Given the description of an element on the screen output the (x, y) to click on. 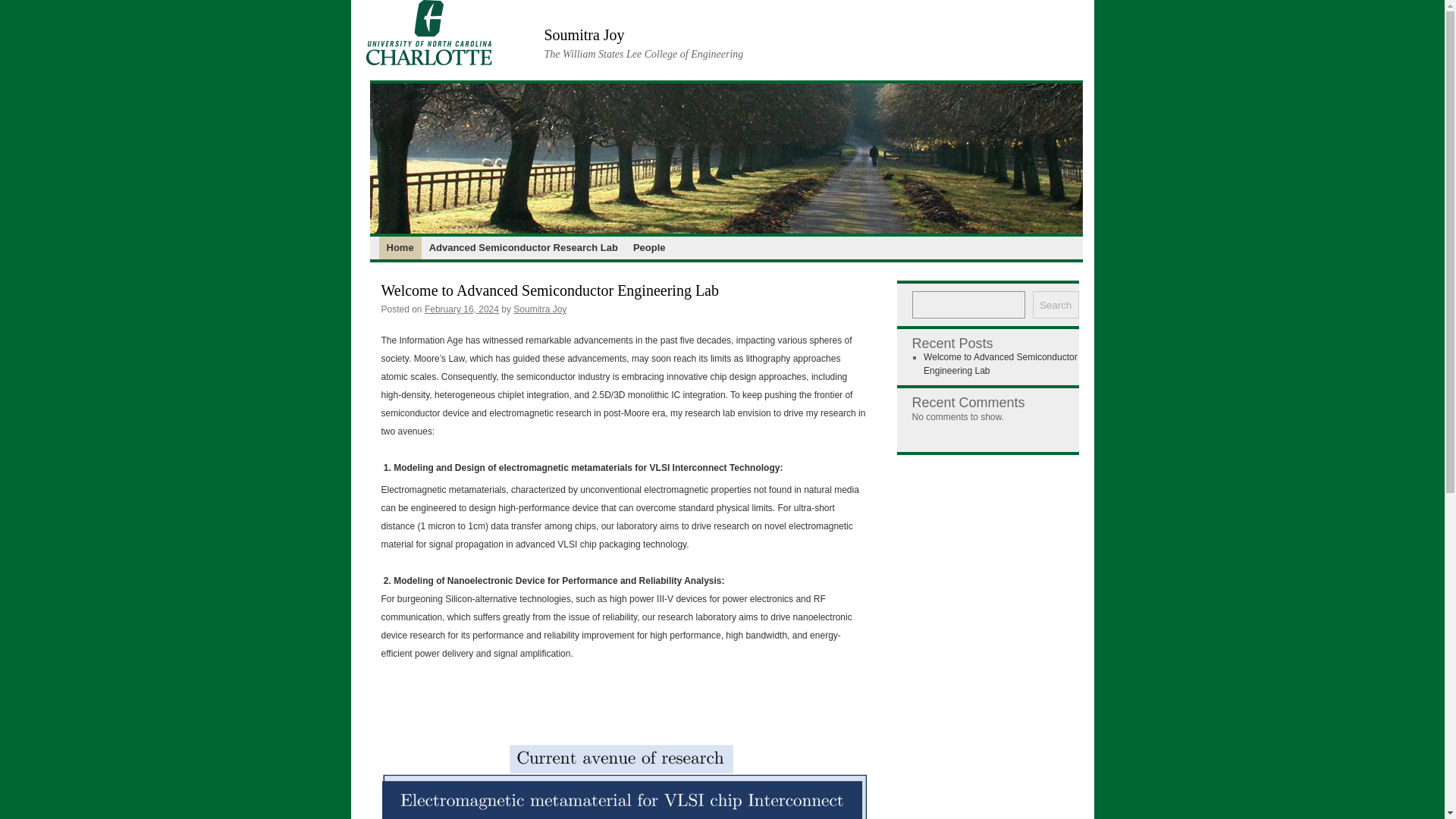
Home (400, 247)
Welcome to Advanced Semiconductor Engineering Lab (1000, 363)
Welcome to Advanced Semiconductor Engineering Lab (548, 289)
Search (1055, 304)
Advanced Semiconductor Research Lab (524, 247)
View all posts by Soumitra Joy (539, 308)
Soumitra Joy (584, 34)
7:08 pm (462, 308)
People (649, 247)
February 16, 2024 (462, 308)
Soumitra Joy (539, 308)
